Given the description of an element on the screen output the (x, y) to click on. 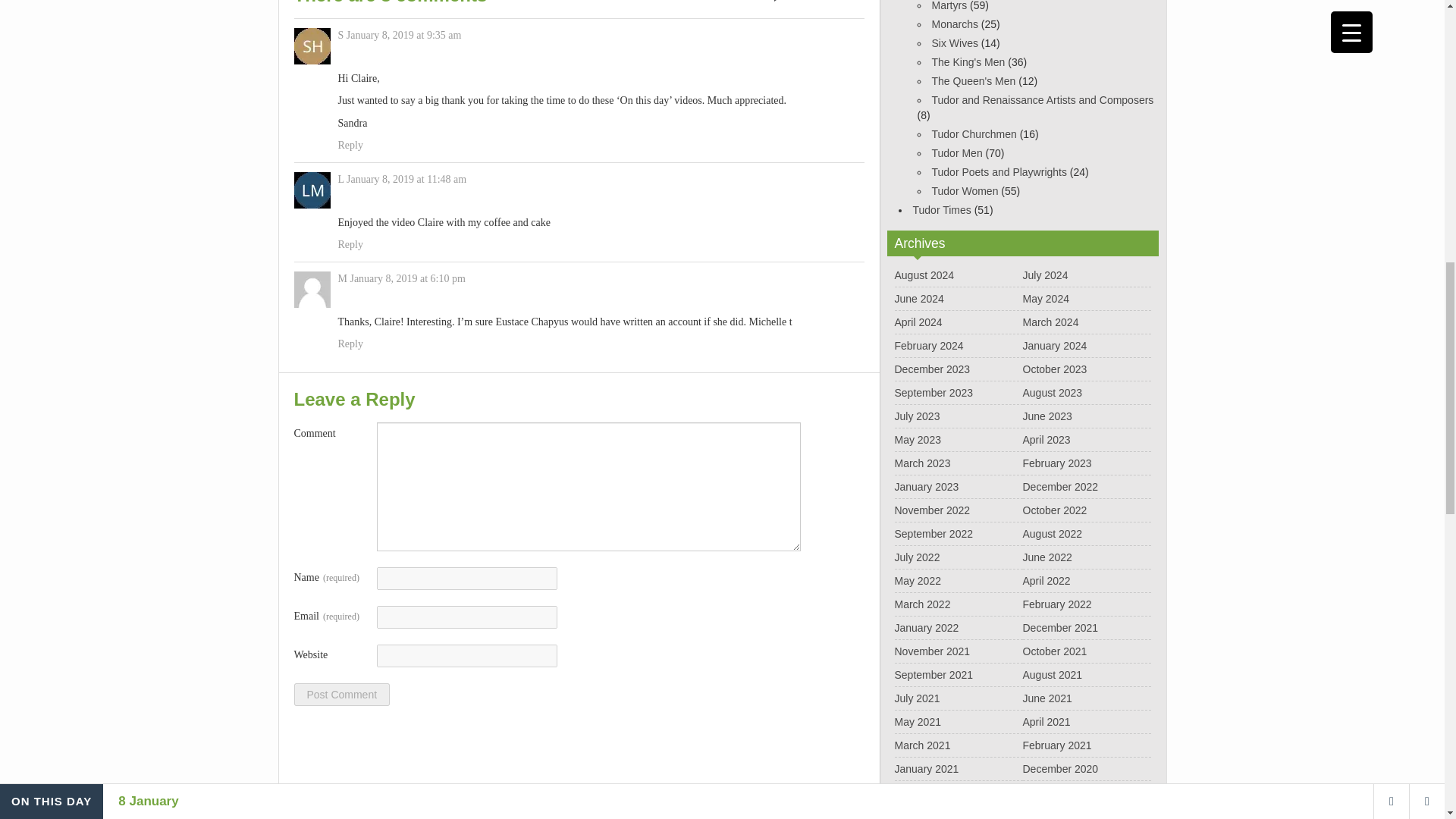
Reply (349, 145)
Post Comment (342, 694)
Reply (349, 344)
Go To Comment (817, 3)
Reply (349, 244)
Post Comment (342, 694)
